Given the description of an element on the screen output the (x, y) to click on. 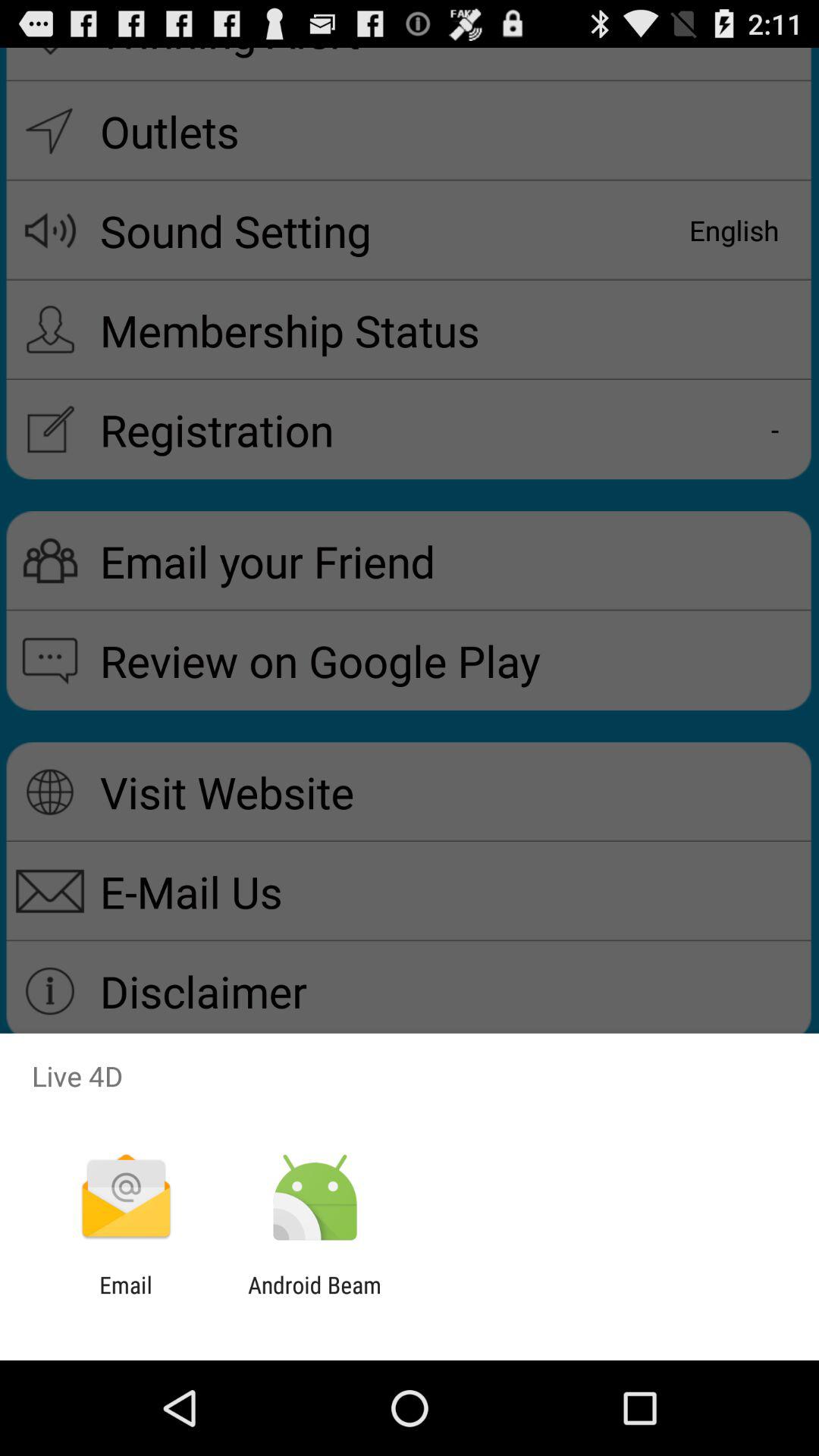
open icon to the right of email icon (314, 1298)
